Given the description of an element on the screen output the (x, y) to click on. 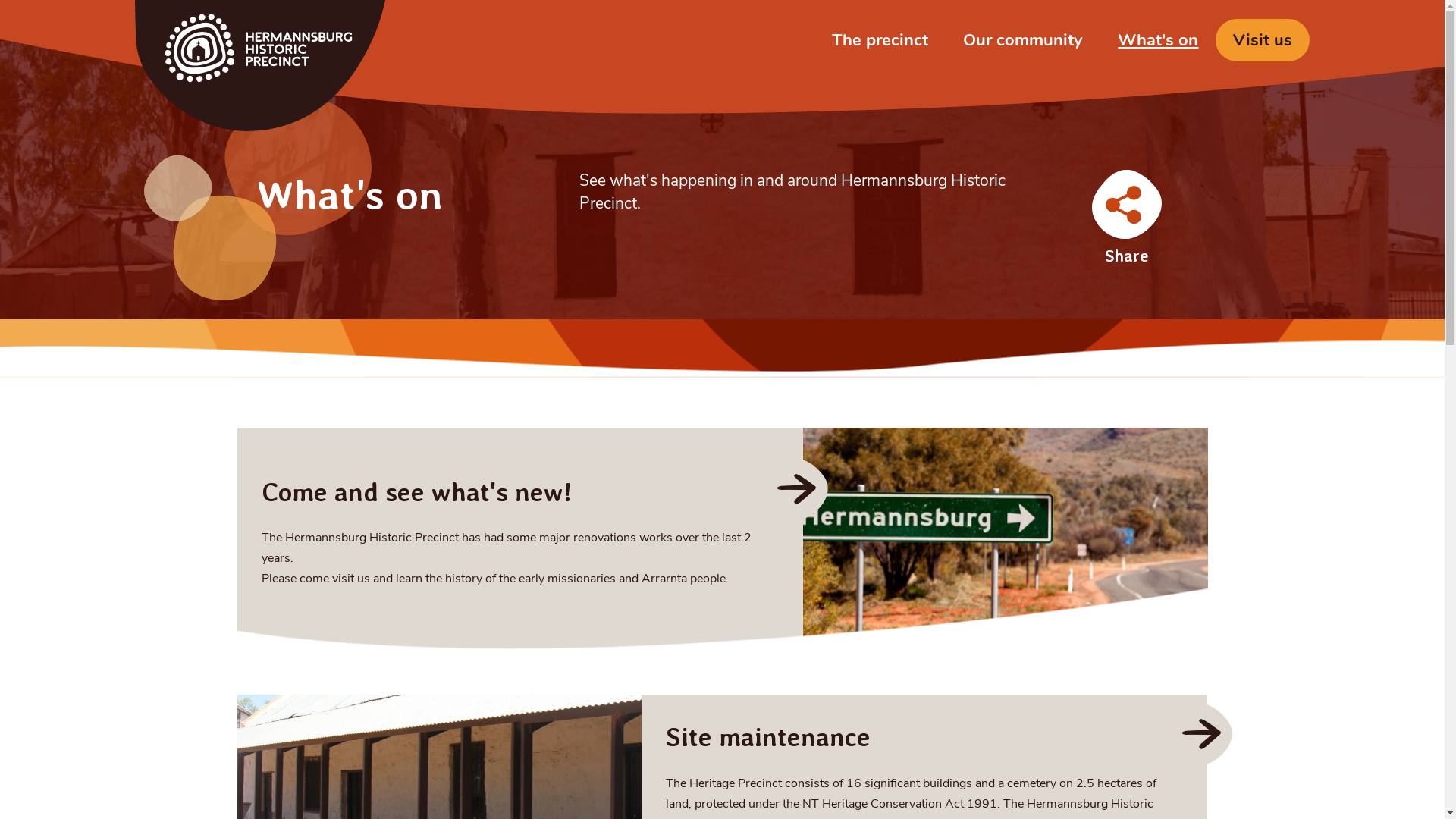
Hermannsburg Historic Precinct Home Element type: hover (259, 65)
Our community Element type: text (1022, 39)
The precinct Element type: text (879, 39)
Come and see what's new! Element type: text (416, 491)
Visit us Element type: text (1262, 39)
Share Element type: text (1126, 216)
Hermannsburg Historic Precinct Home Element type: hover (259, 64)
What's on Element type: text (1157, 39)
Skip to main content Element type: text (0, 0)
Site maintenance Element type: text (767, 736)
